Given the description of an element on the screen output the (x, y) to click on. 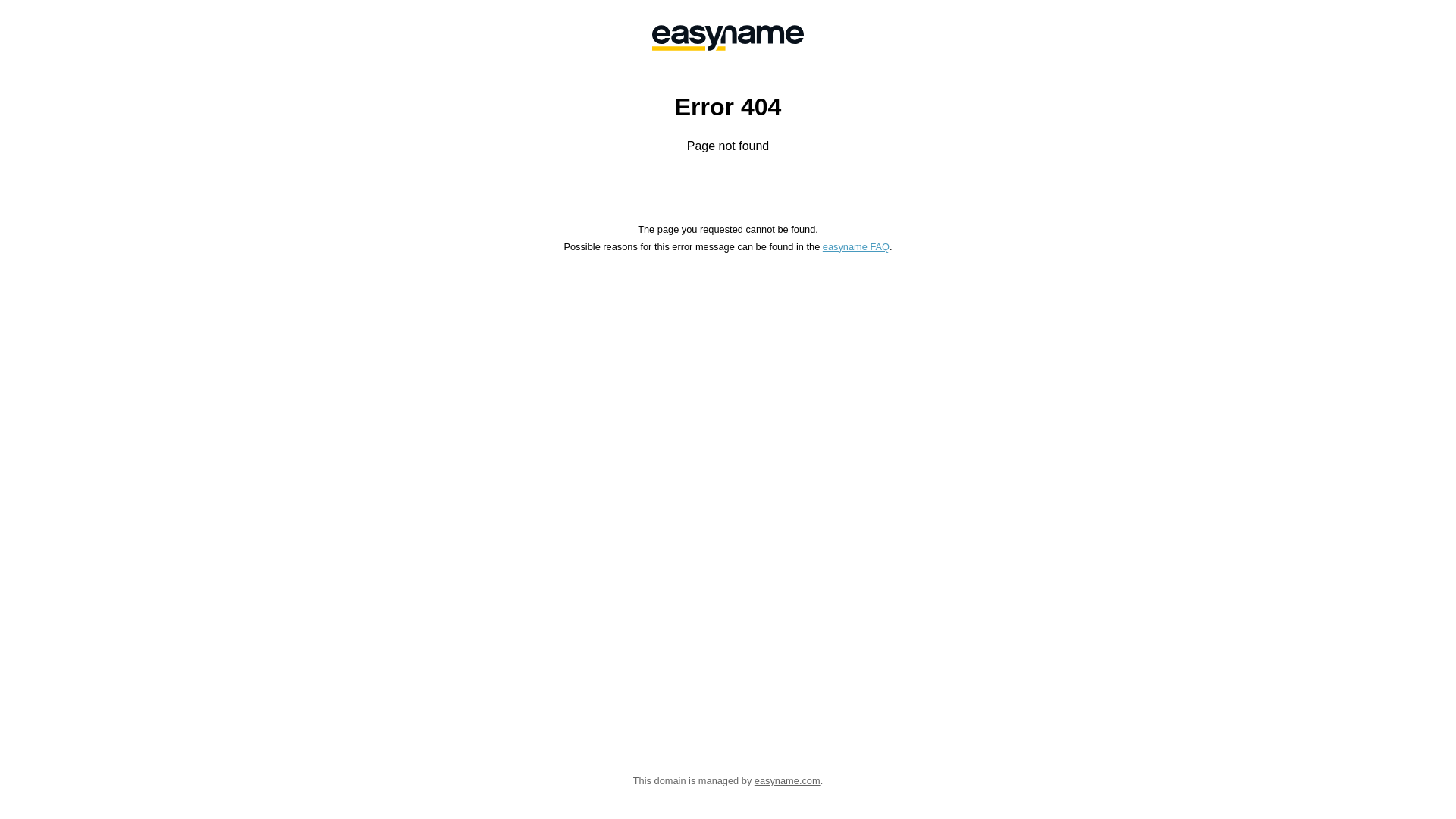
easyname GmbH Element type: hover (727, 37)
easyname FAQ Element type: text (855, 246)
easyname.com Element type: text (787, 780)
